Given the description of an element on the screen output the (x, y) to click on. 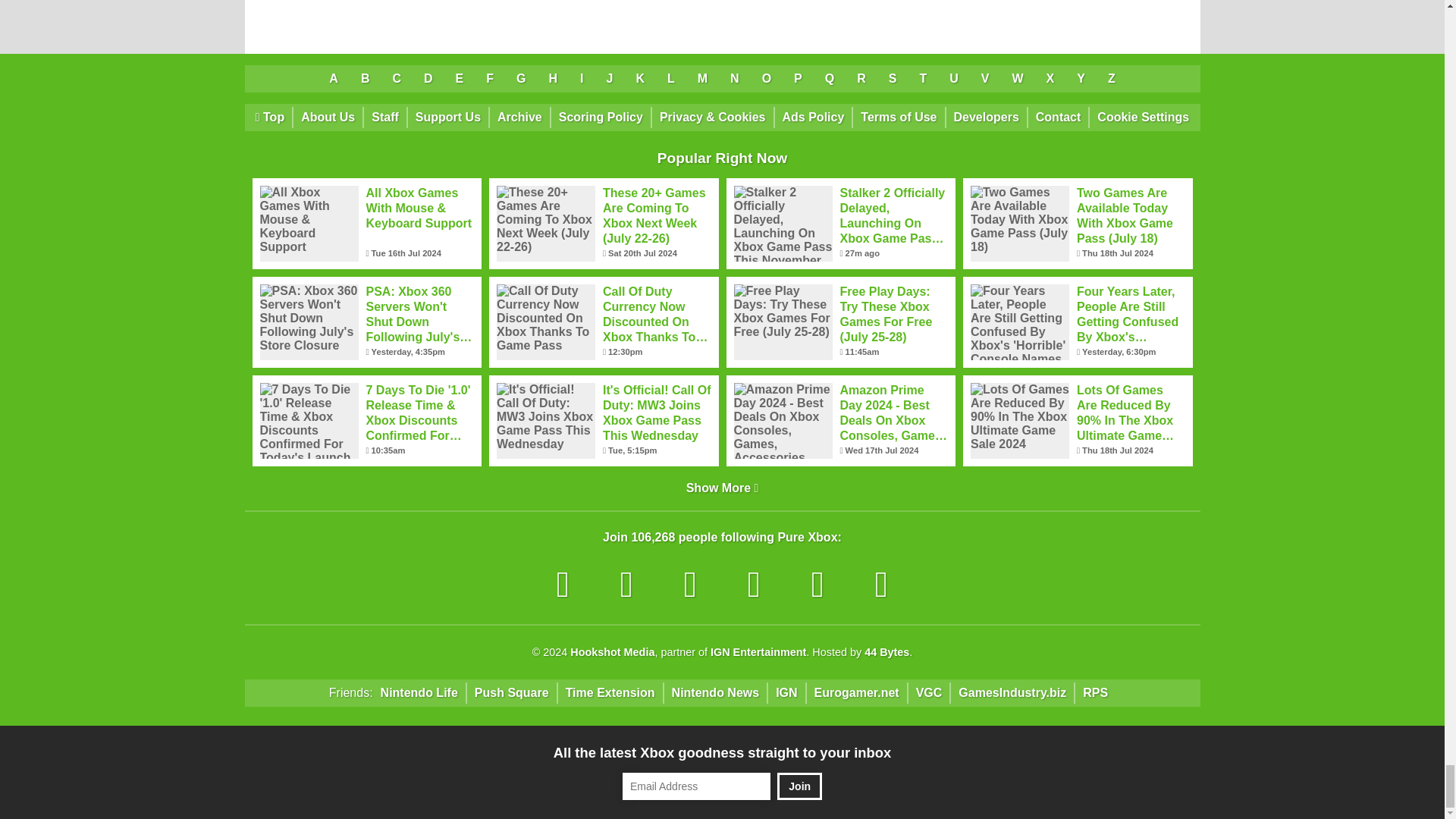
Join (799, 786)
